Given the description of an element on the screen output the (x, y) to click on. 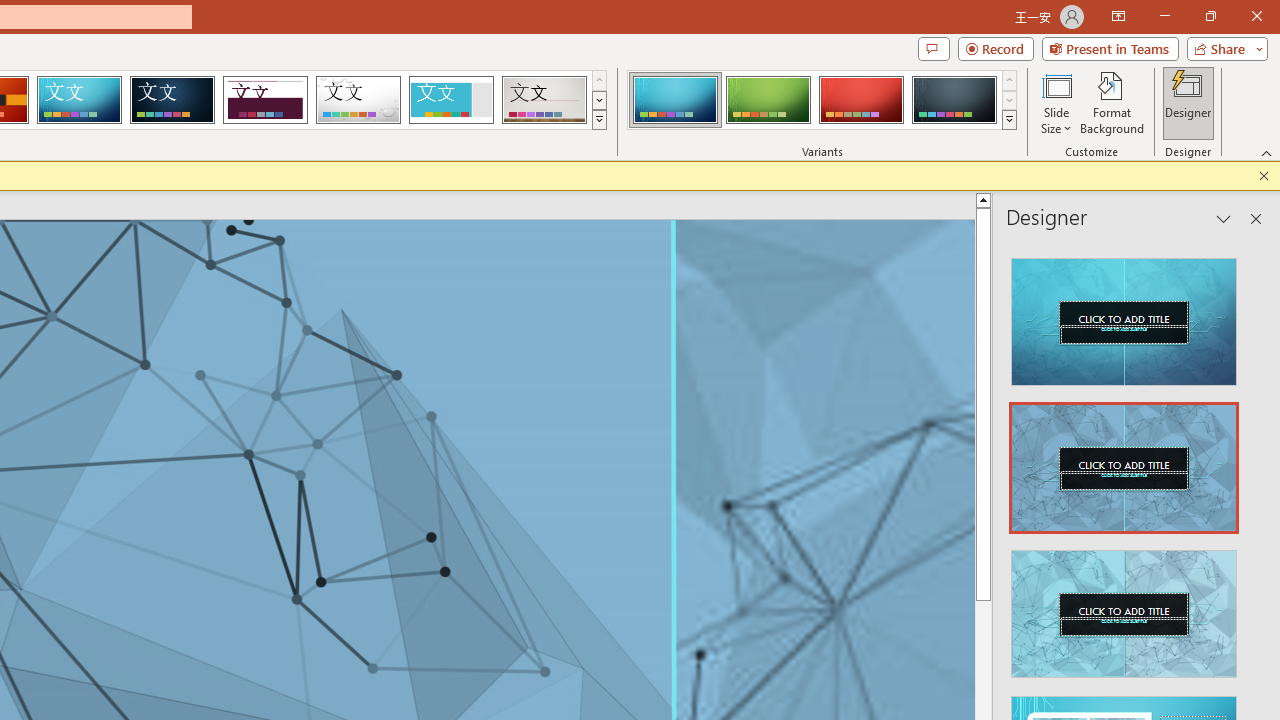
Circuit Variant 4 (953, 100)
Damask (171, 100)
Frame (450, 100)
Circuit Variant 1 (674, 100)
Circuit (79, 100)
